Given the description of an element on the screen output the (x, y) to click on. 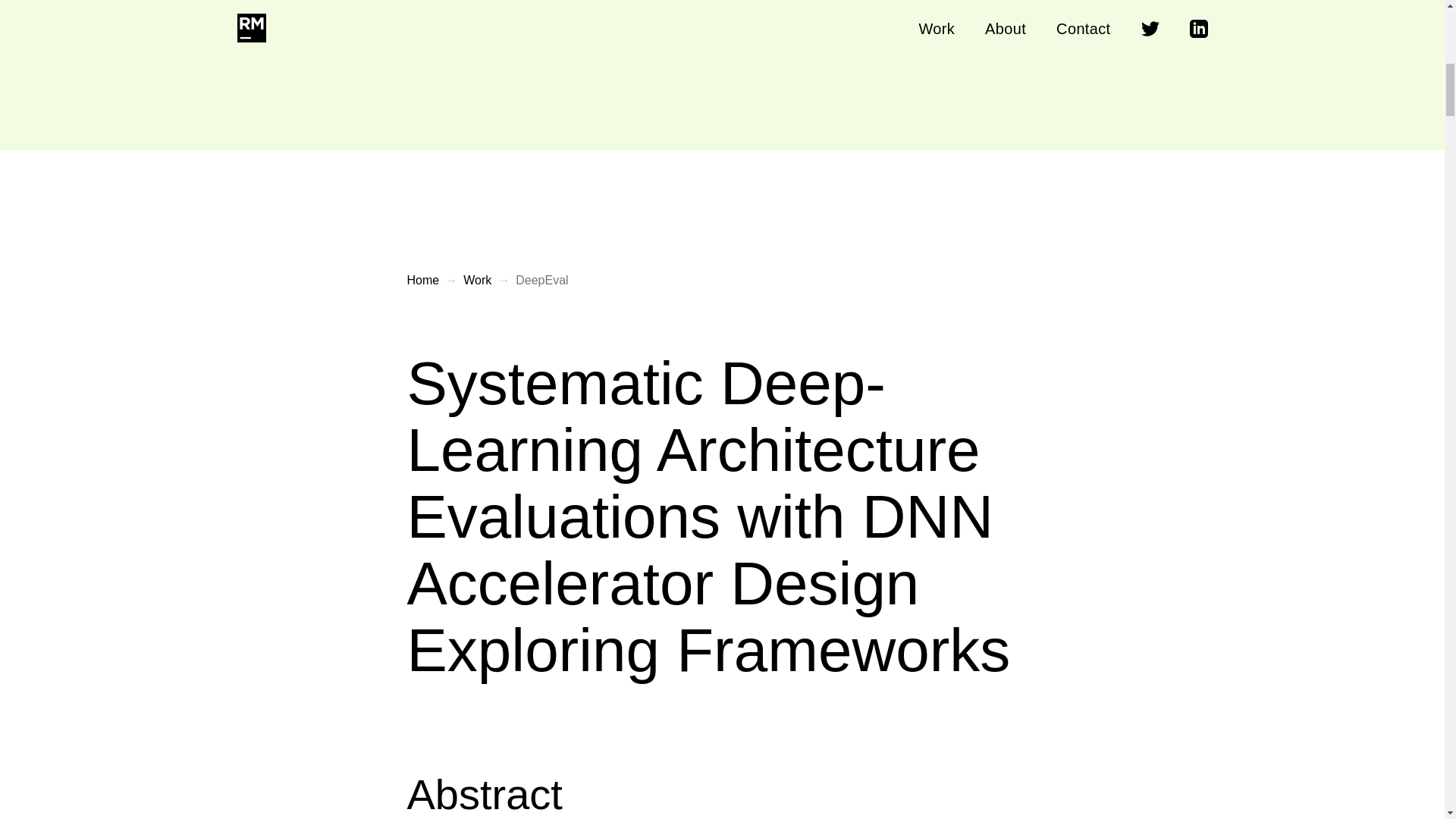
Work (477, 280)
Home (422, 280)
